Given the description of an element on the screen output the (x, y) to click on. 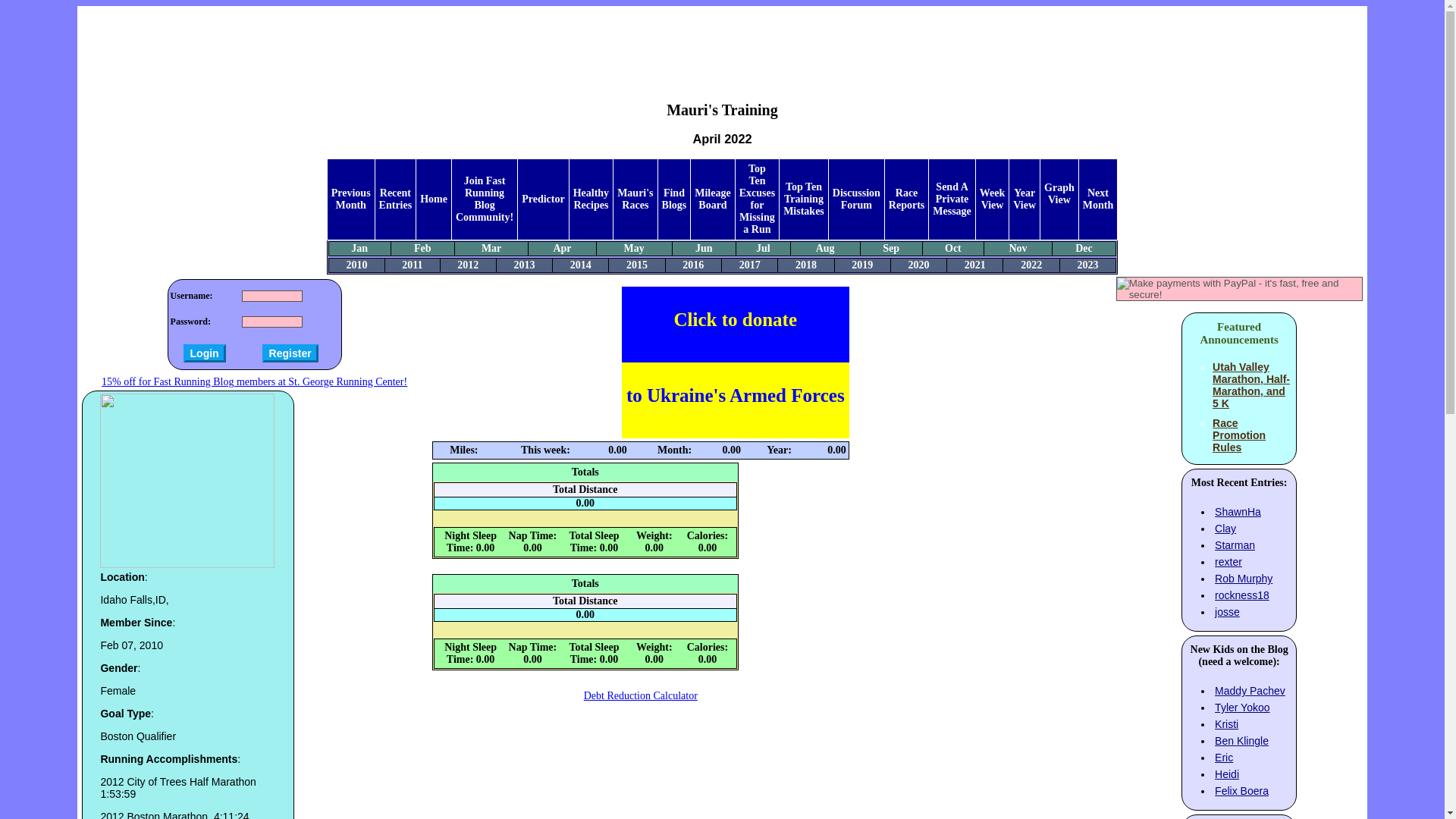
Home (433, 198)
Feb (421, 247)
Graph View (1058, 193)
2012 (468, 265)
Join Fast Running Blog Community! (484, 198)
2014 (580, 265)
Next Month (1098, 198)
2019 (861, 265)
2010 (356, 265)
Previous Month (351, 198)
Week View (991, 198)
2013 (523, 265)
Register (290, 352)
Apr (561, 247)
Mar (490, 247)
